Given the description of an element on the screen output the (x, y) to click on. 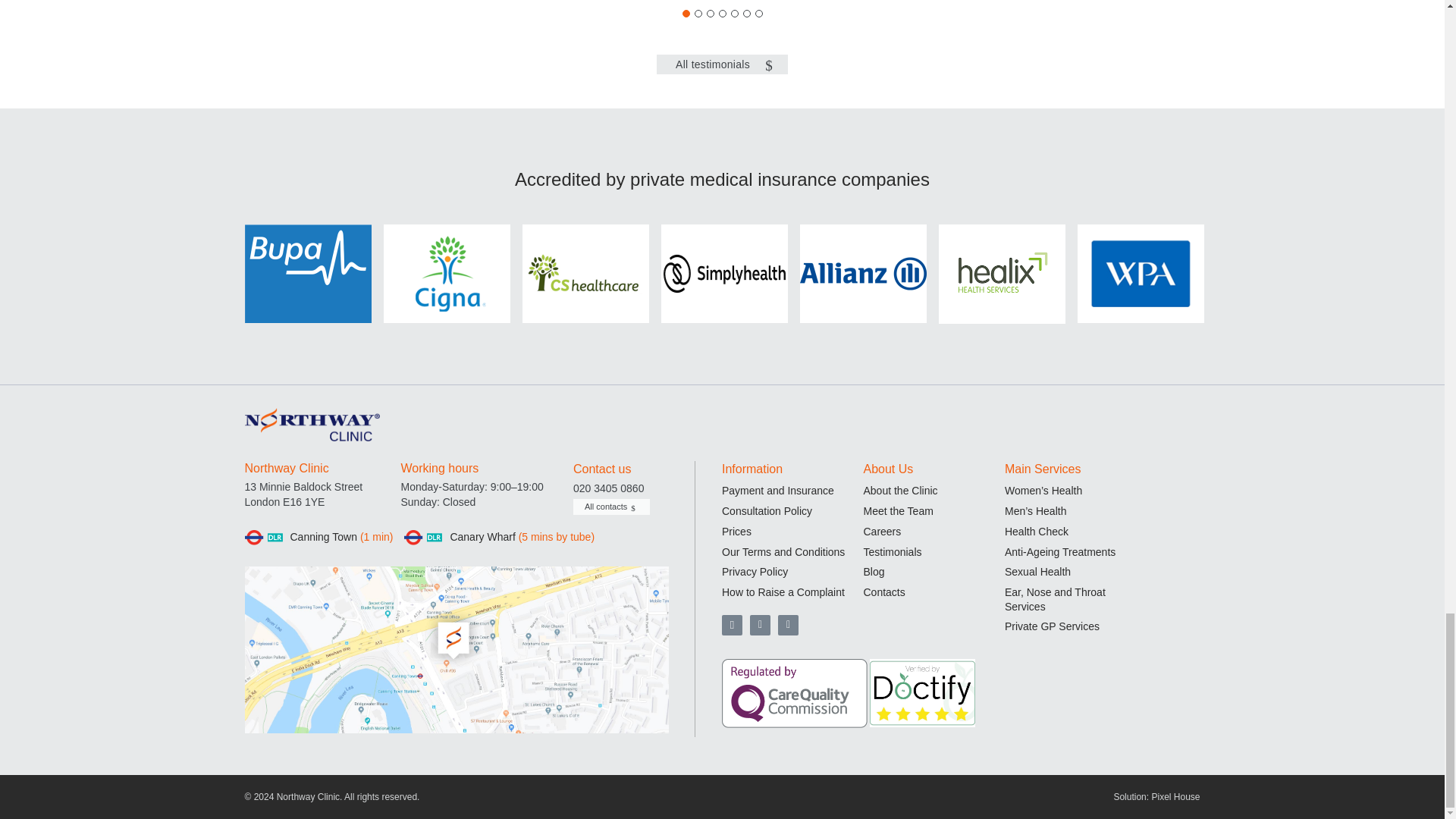
Care Quality Commission (794, 693)
Verified by Doctify (922, 693)
Chirurgijos centras (311, 424)
